Given the description of an element on the screen output the (x, y) to click on. 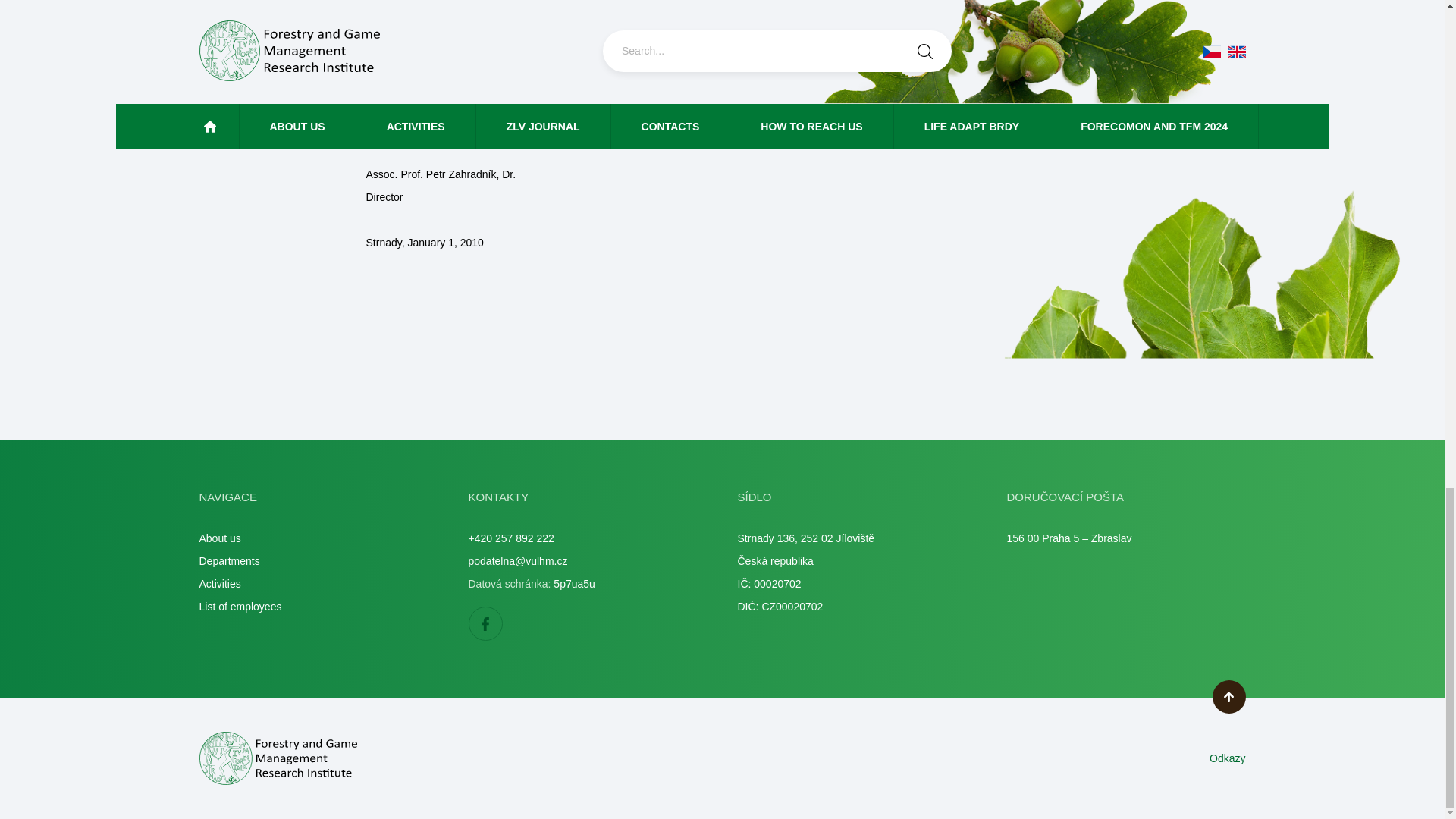
Departments (228, 561)
Facebook (485, 623)
List of employees (239, 606)
Scroll to top (1227, 696)
About us (219, 538)
Scroll to top (1227, 696)
Activities (219, 583)
